Given the description of an element on the screen output the (x, y) to click on. 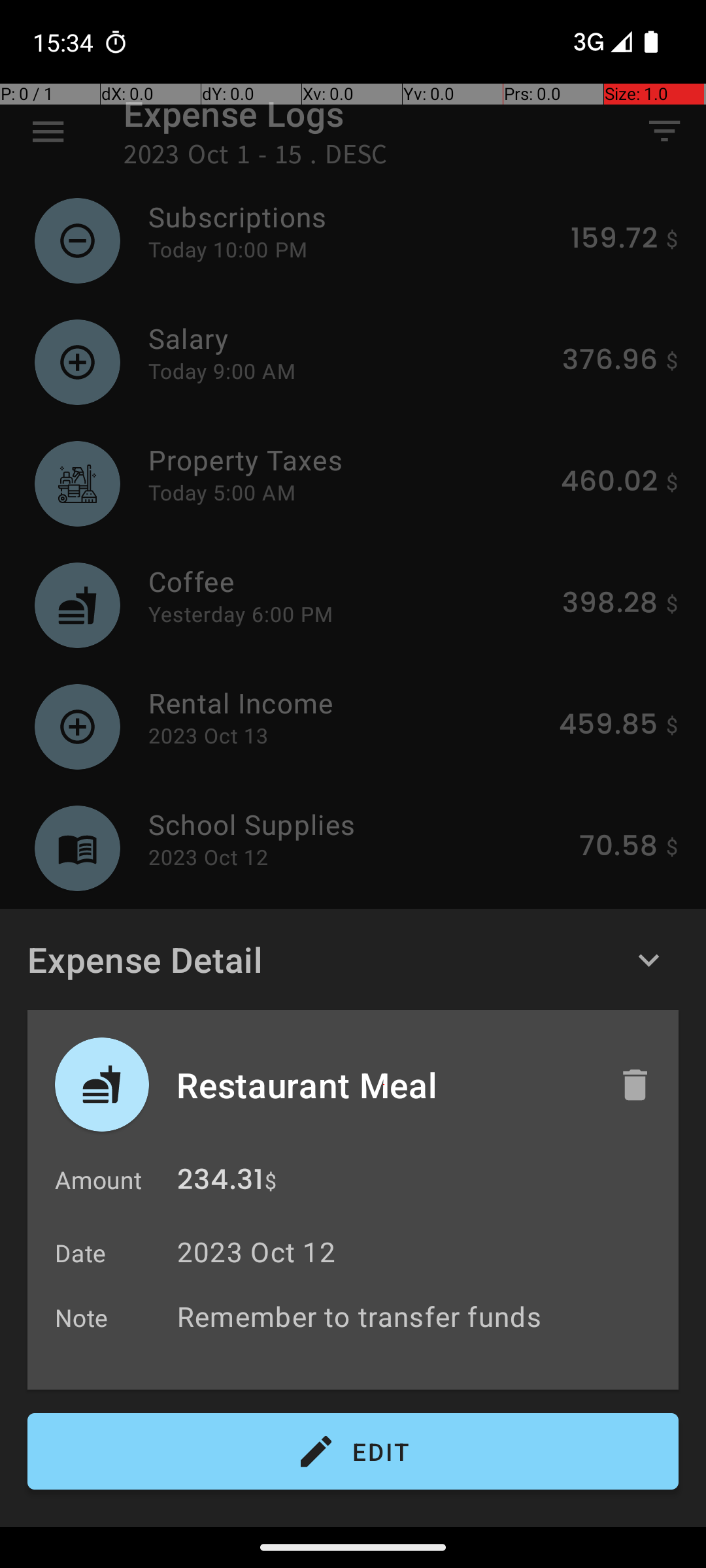
Restaurant Meal Element type: android.widget.TextView (383, 1084)
234.31 Element type: android.widget.TextView (220, 1182)
